Given the description of an element on the screen output the (x, y) to click on. 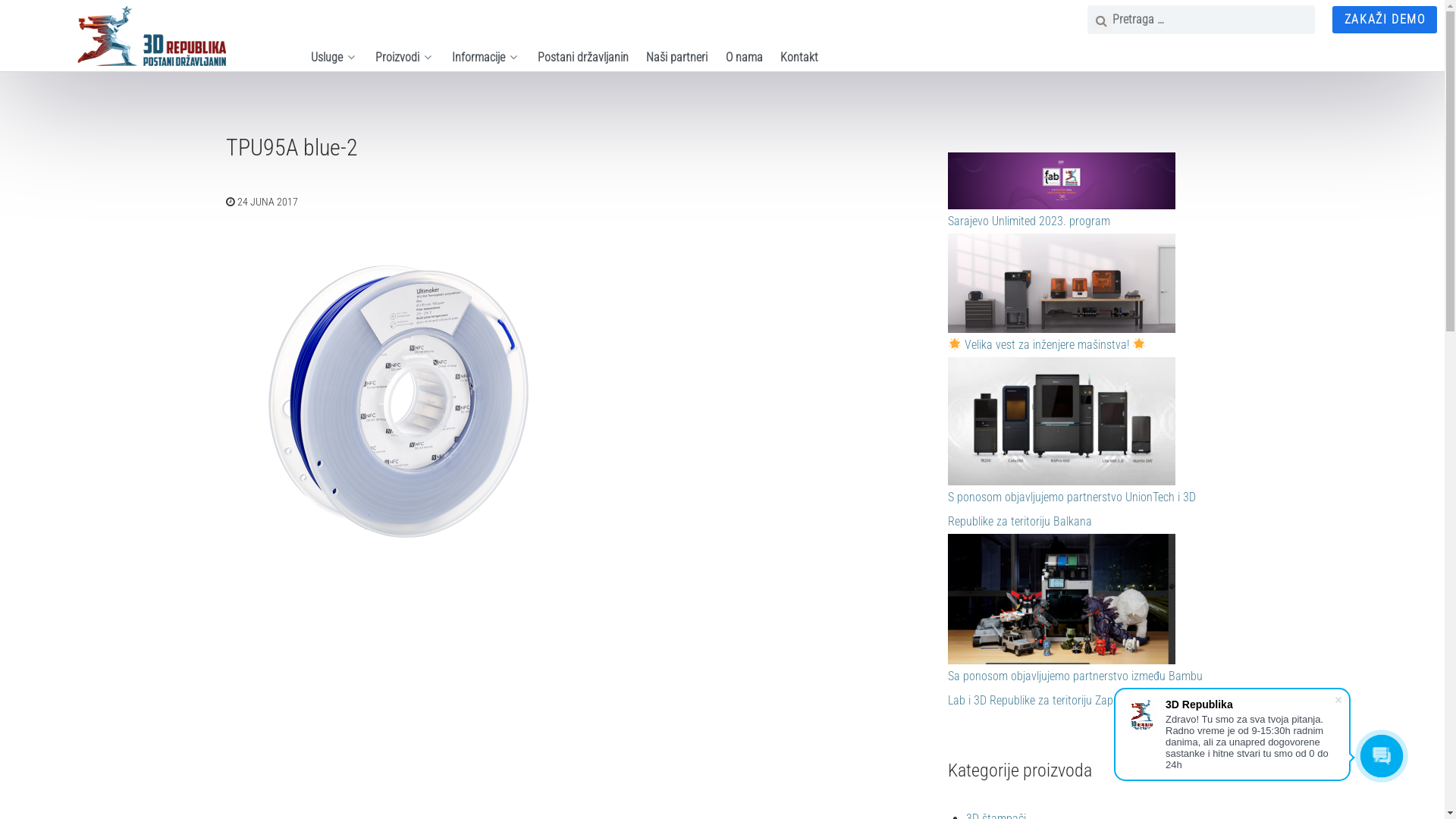
Proizvodi Element type: text (404, 58)
Kontakt Element type: text (799, 58)
Sarajevo Unlimited 2023. program Element type: text (1028, 220)
O nama Element type: text (743, 58)
Usluge Element type: text (333, 58)
Informacije Element type: text (485, 58)
